Given the description of an element on the screen output the (x, y) to click on. 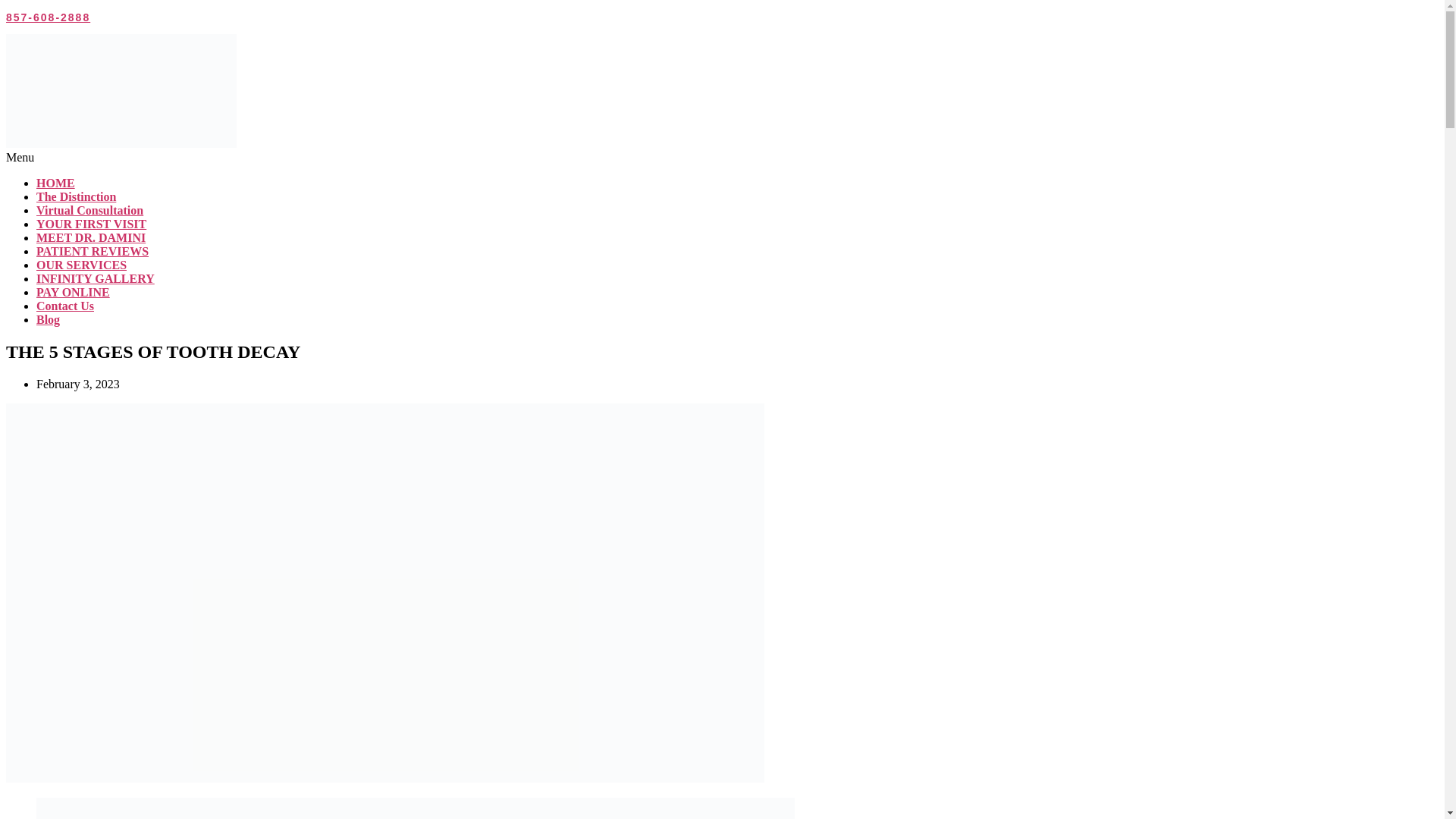
PAY ONLINE (73, 291)
INFINITY GALLERY (95, 278)
OUR SERVICES (81, 264)
Virtual Consultation (89, 210)
MEET DR. DAMINI (90, 237)
PATIENT REVIEWS (92, 250)
Contact Us (65, 305)
Blog (47, 318)
YOUR FIRST VISIT (91, 223)
The Distinction (76, 196)
857-608-2888 (47, 17)
HOME (55, 182)
